Given the description of an element on the screen output the (x, y) to click on. 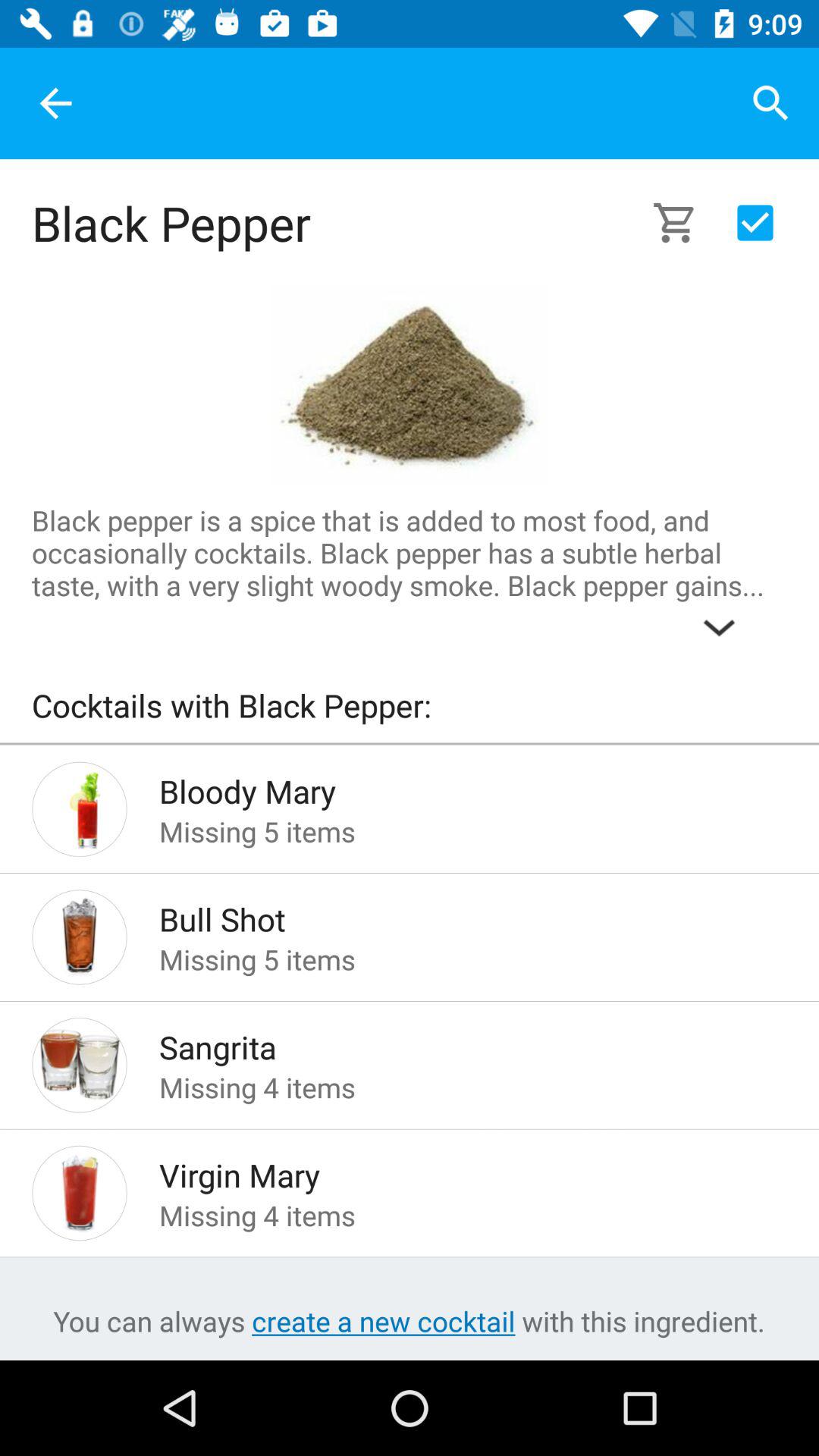
scroll until sangrita item (449, 1042)
